Given the description of an element on the screen output the (x, y) to click on. 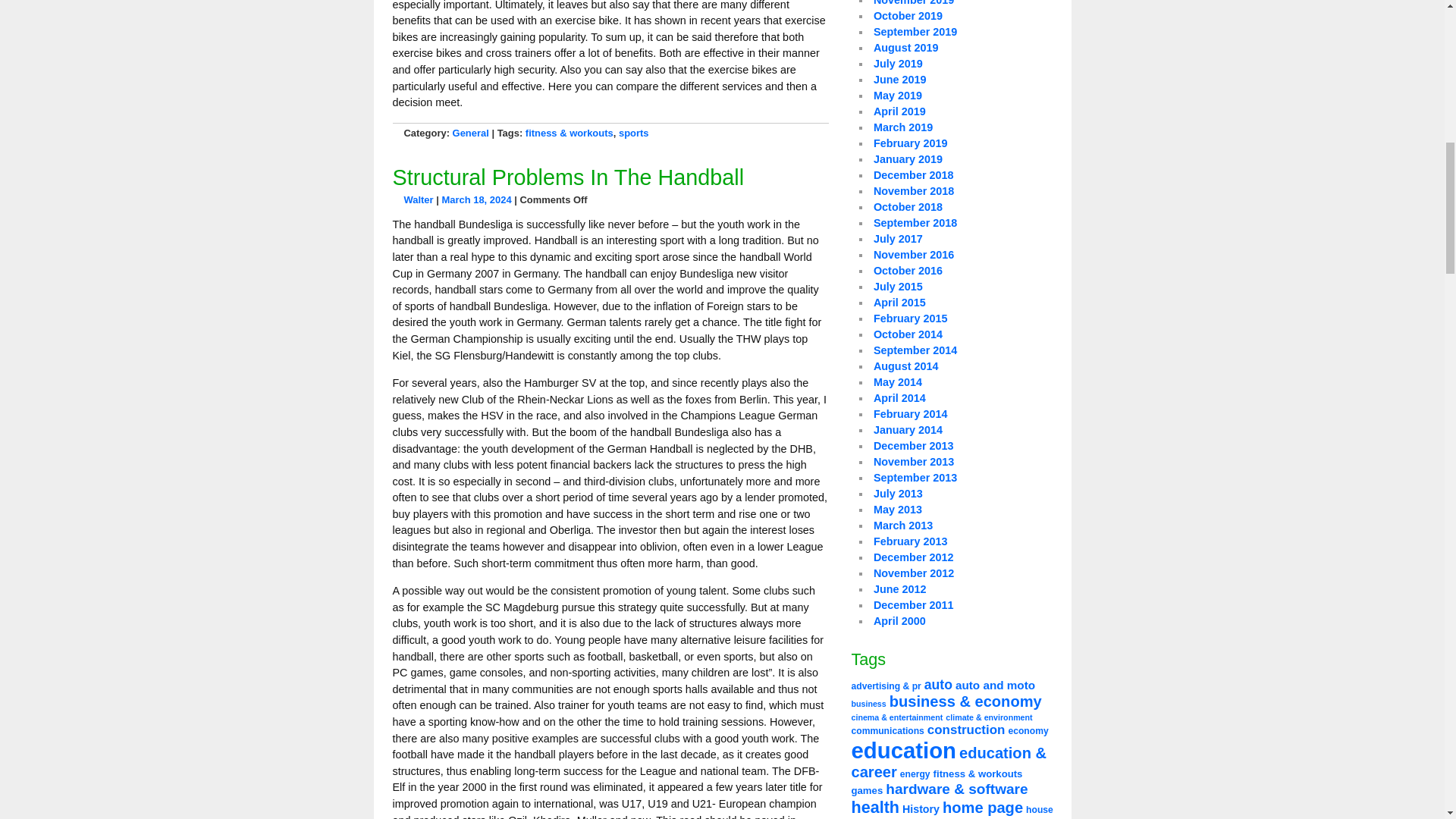
March 18, 2024 (476, 199)
Structural Problems In The Handball (568, 177)
Walter (417, 199)
General (470, 132)
Posts by Walter (417, 199)
sports (633, 132)
